Given the description of an element on the screen output the (x, y) to click on. 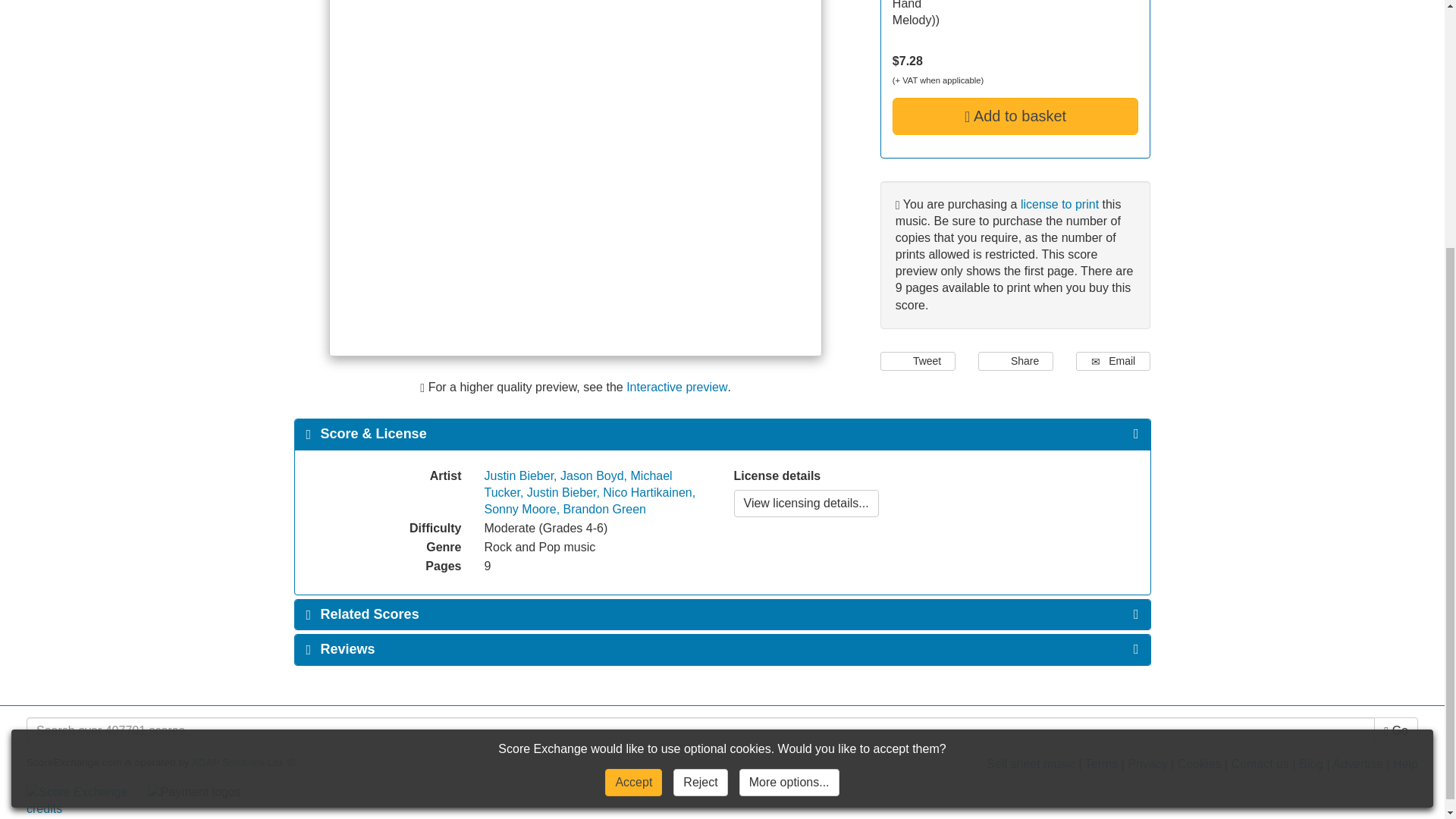
Twitter icon (900, 359)
Facebook icon (998, 359)
